Given the description of an element on the screen output the (x, y) to click on. 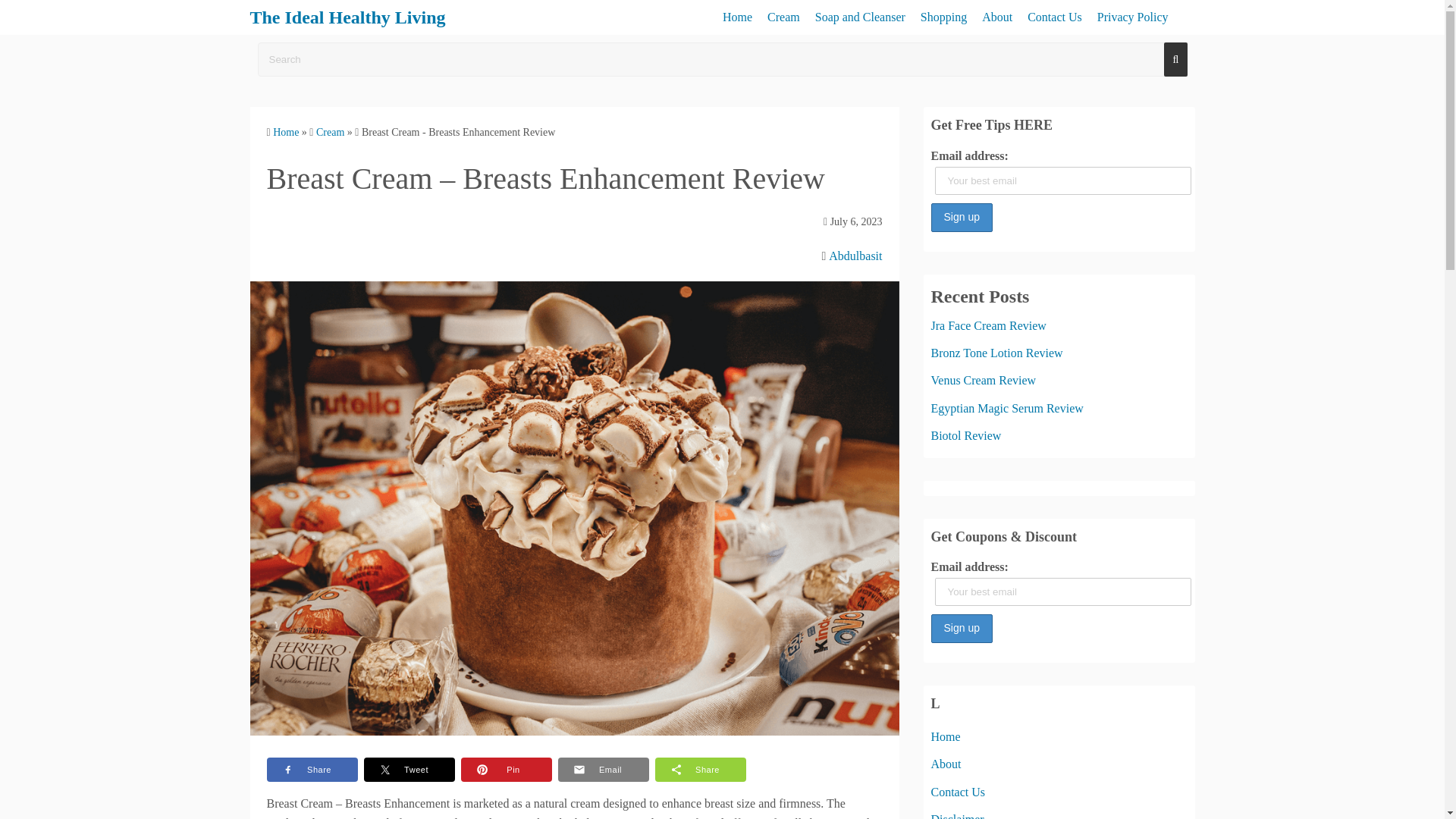
Contact Us (958, 791)
Abdulbasit (855, 255)
The Ideal Healthy Living (347, 17)
Shopping (943, 17)
Egyptian Magic Serum Review (1007, 408)
Privacy Policy (1133, 17)
Venus Cream Review (983, 379)
Bronz Tone Lotion Review (996, 352)
Sign up (961, 217)
Cream (783, 17)
About (945, 763)
Sign up (961, 217)
Contact Us (1054, 17)
Cream (329, 132)
Home (945, 736)
